Given the description of an element on the screen output the (x, y) to click on. 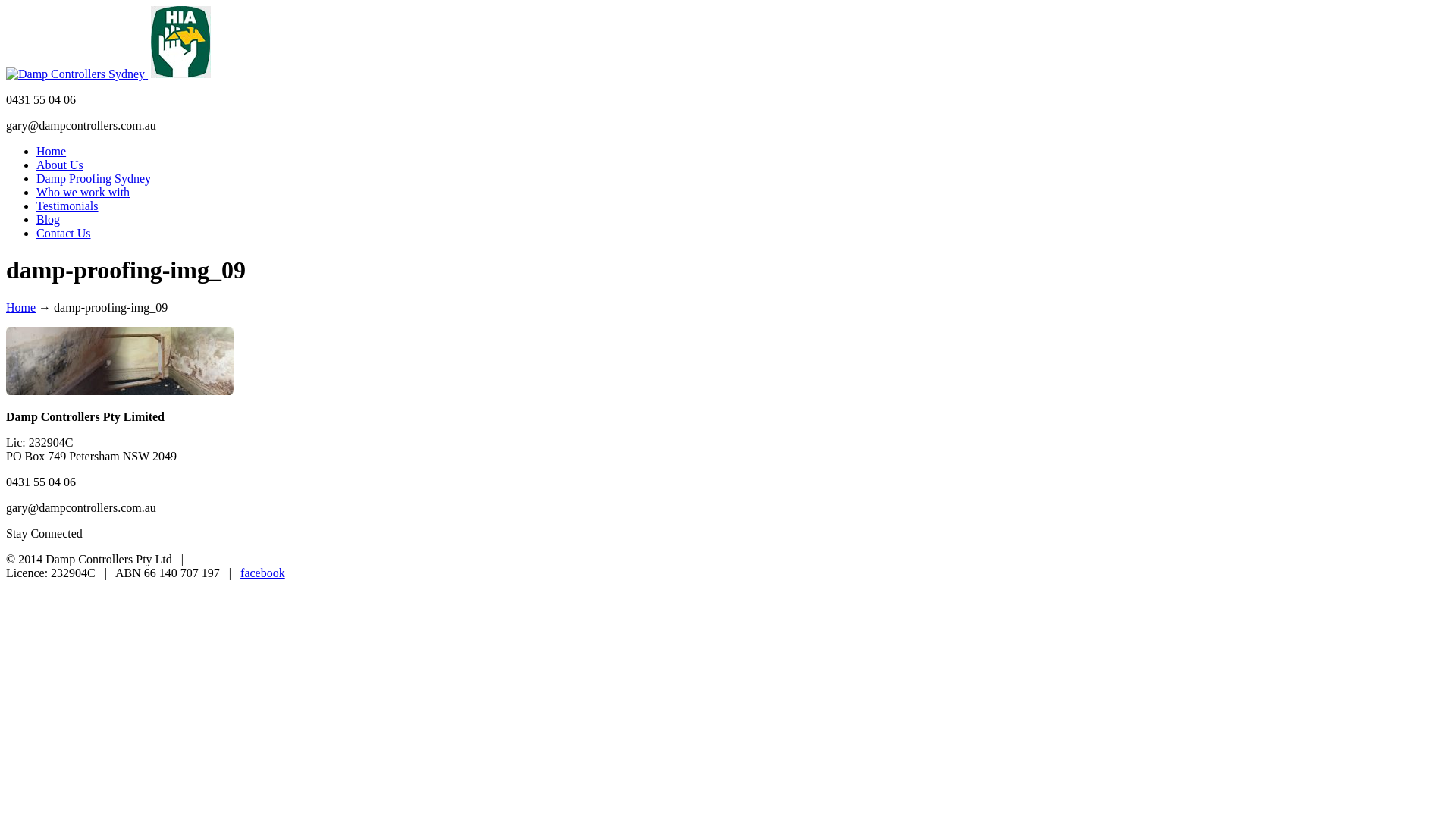
Contact Us Element type: text (63, 232)
Damp Proofing Sydney Element type: text (93, 178)
Testimonials Element type: text (67, 205)
Damp Controllers Sydney Element type: hover (76, 73)
Home Element type: text (50, 150)
facebook Element type: text (262, 572)
Who we work with Element type: text (82, 191)
About Us Element type: text (59, 164)
Home Element type: text (20, 307)
Blog Element type: text (47, 219)
